Given the description of an element on the screen output the (x, y) to click on. 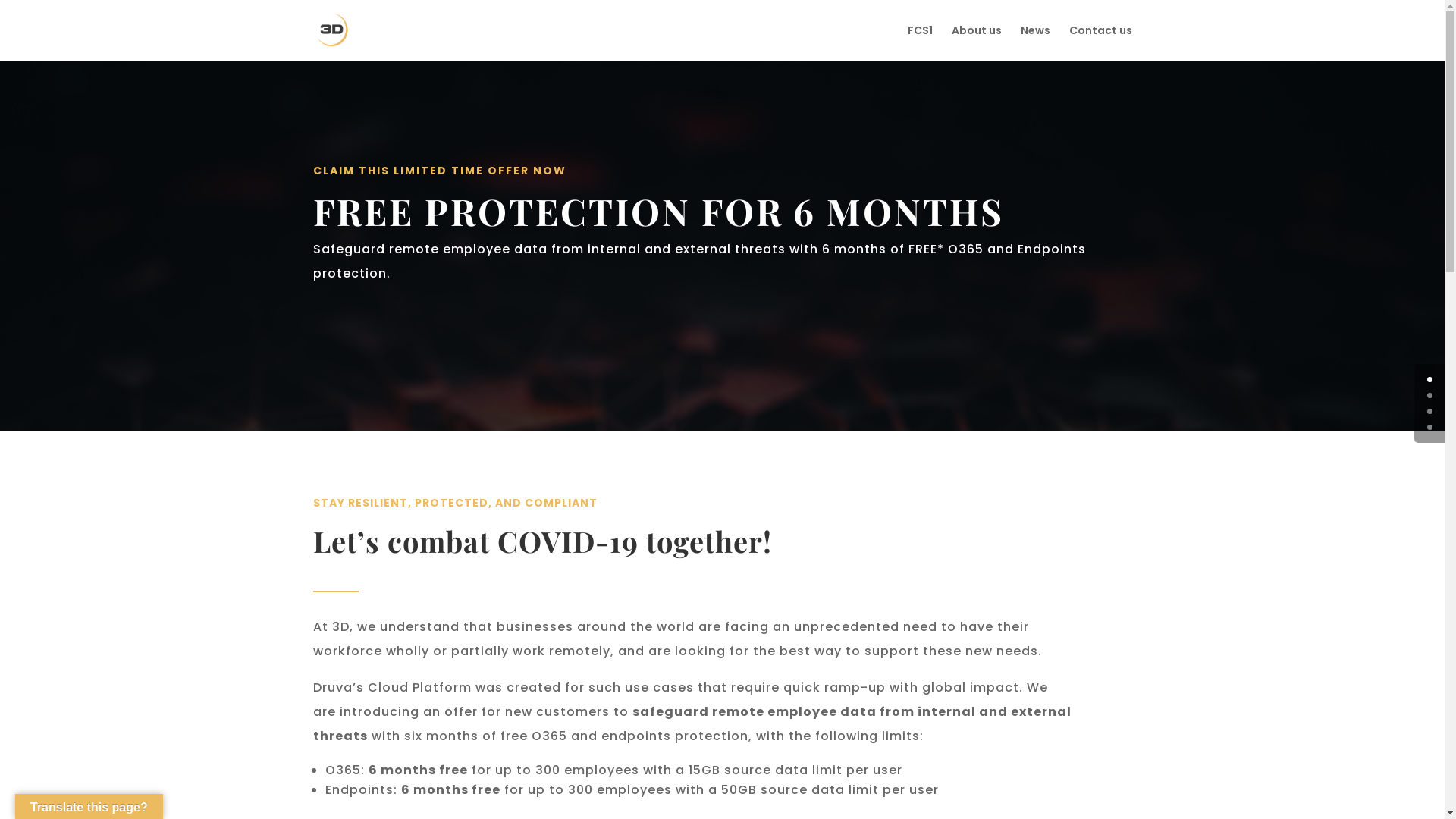
0 Element type: text (1429, 379)
FCS1 Element type: text (918, 42)
About us Element type: text (975, 42)
News Element type: text (1035, 42)
2 Element type: text (1429, 411)
1 Element type: text (1429, 395)
3 Element type: text (1429, 426)
Contact us Element type: text (1100, 42)
